Given the description of an element on the screen output the (x, y) to click on. 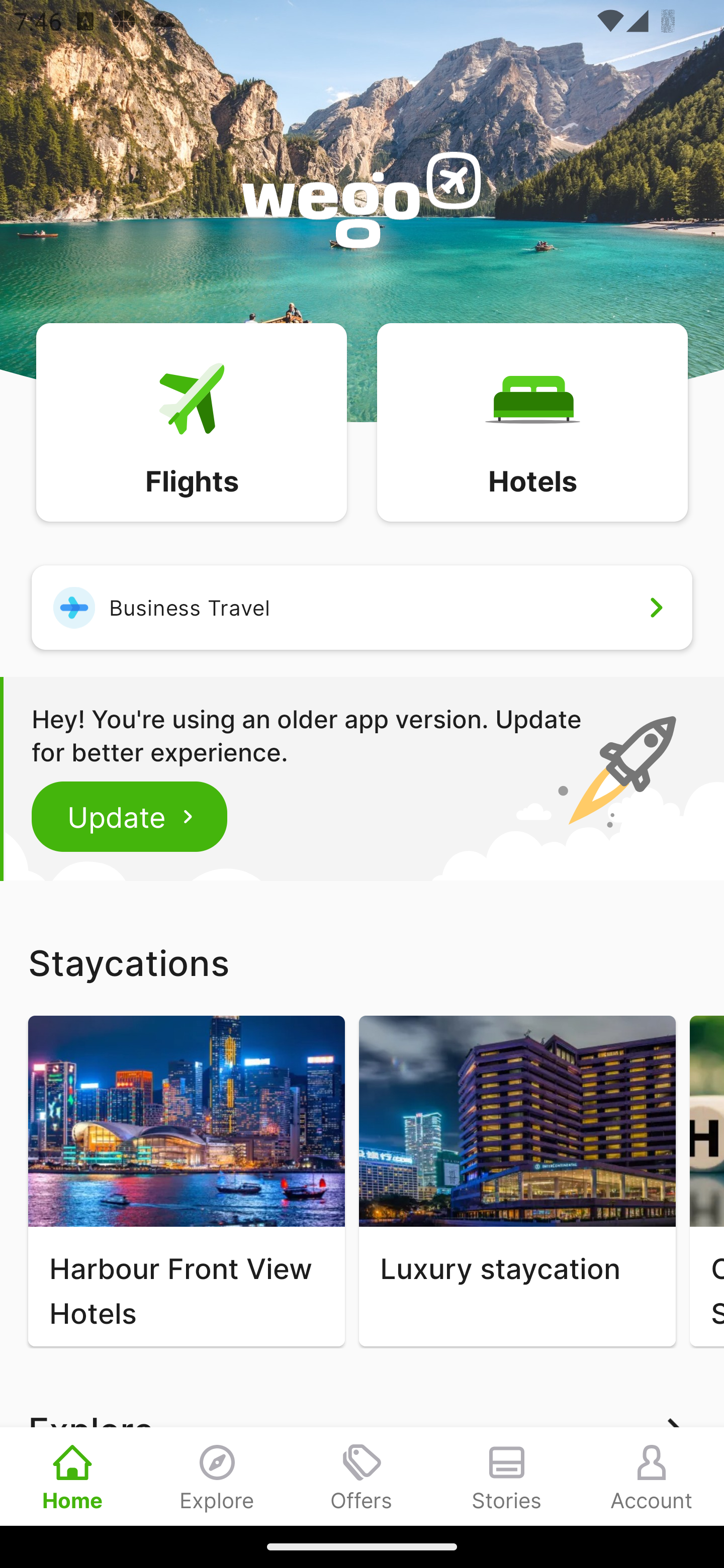
Flights (191, 420)
Hotels (532, 420)
Business Travel (361, 607)
Update (129, 815)
Staycations (362, 962)
Harbour Front View Hotels (186, 1181)
Luxury staycation (517, 1181)
Explore (216, 1475)
Offers (361, 1475)
Stories (506, 1475)
Account (651, 1475)
